Given the description of an element on the screen output the (x, y) to click on. 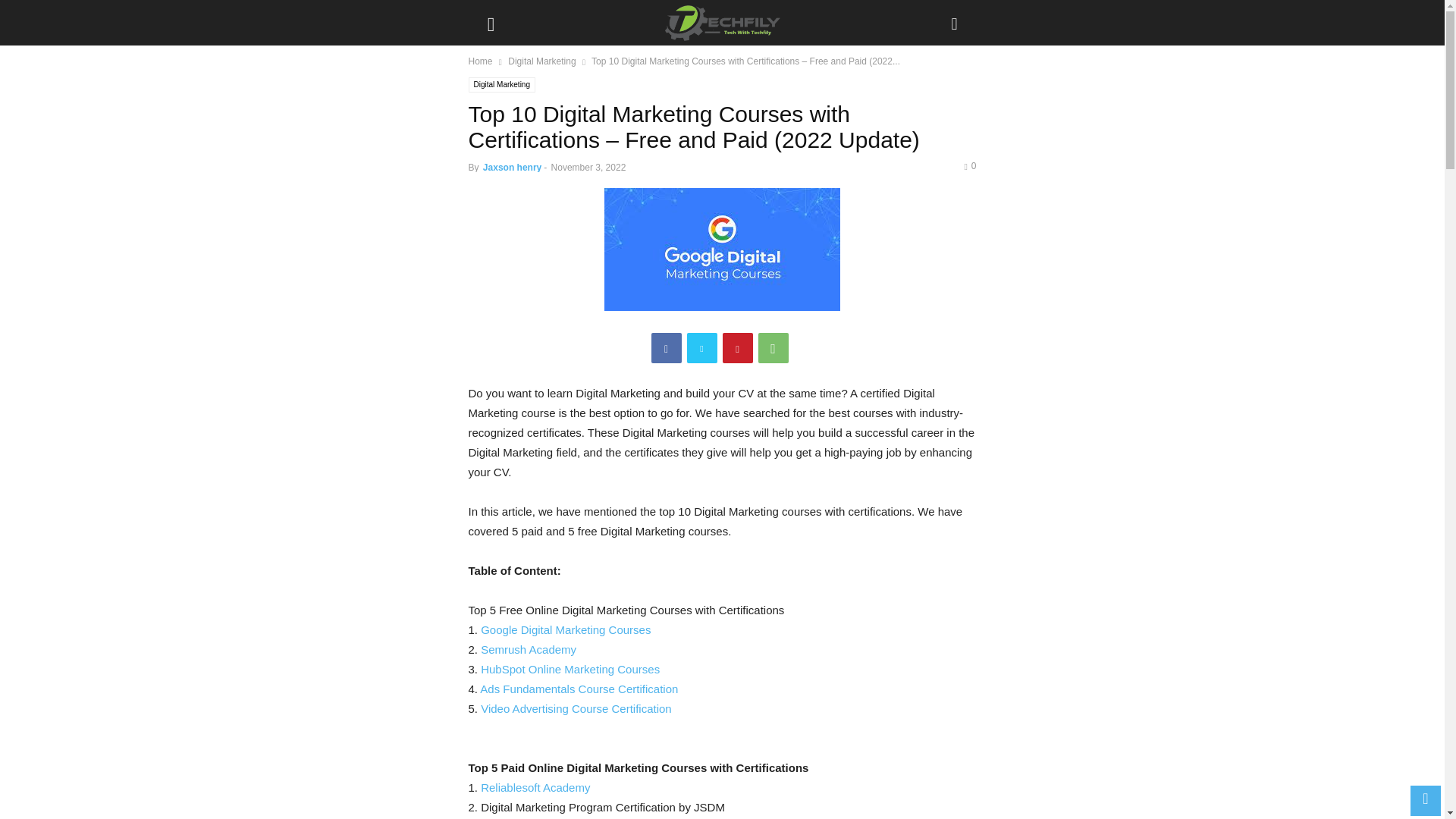
0 (969, 165)
View all posts in Digital Marketing (541, 61)
Video Advertising Course Certification (575, 707)
Google Digital Marketing Courses (565, 629)
Ads Fundamentals Course Certification (579, 688)
HubSpot Online Marketing Courses (569, 668)
Pinterest (737, 347)
Twitter (702, 347)
Home (480, 61)
Jaxson henry (512, 167)
Digital Marketing (501, 84)
Facebook (665, 347)
WhatsApp (773, 347)
Semrush Academy (528, 649)
Reliablesoft Academy (534, 787)
